Given the description of an element on the screen output the (x, y) to click on. 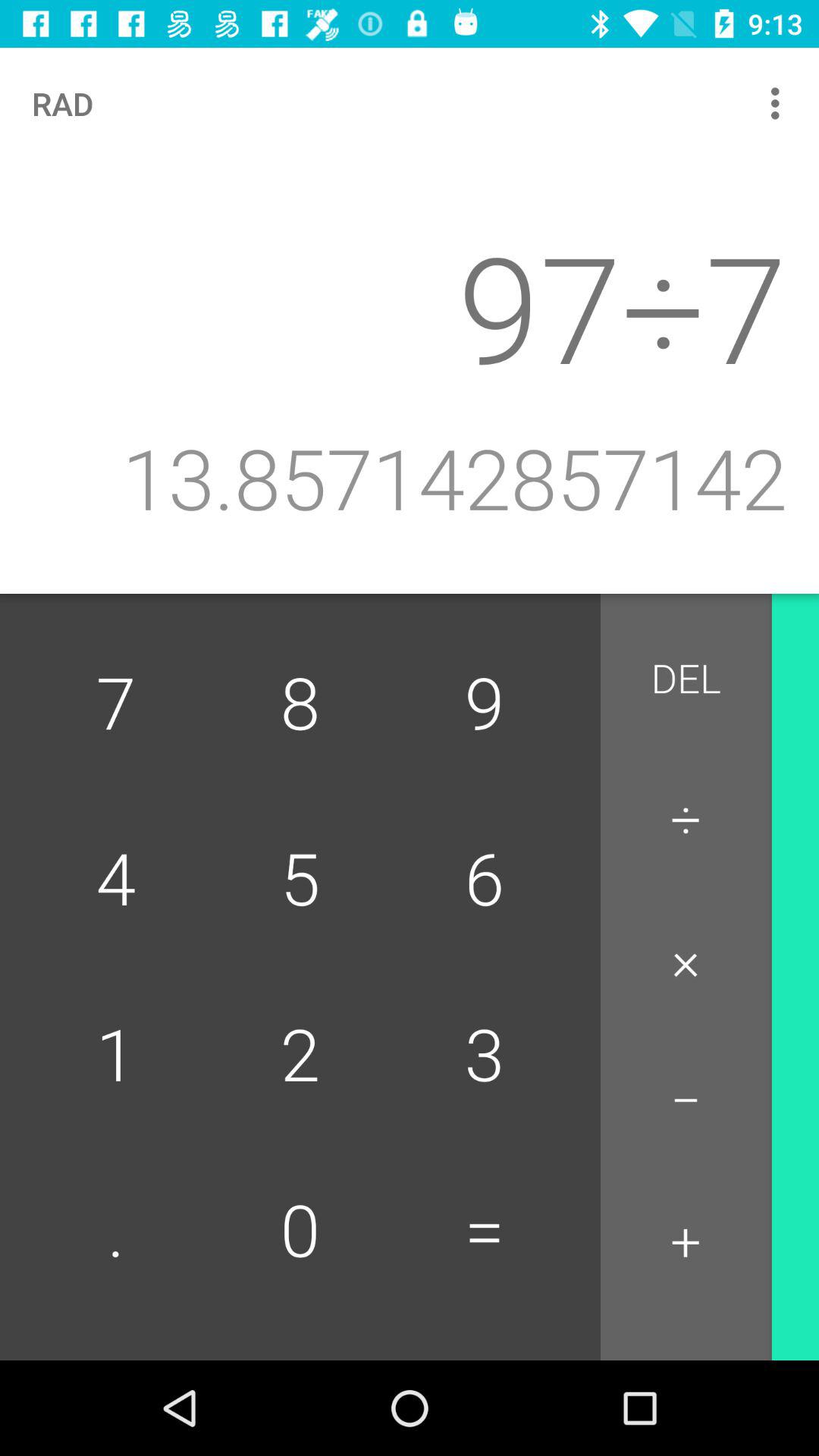
click the icon next to 6 button (685, 960)
